Given the description of an element on the screen output the (x, y) to click on. 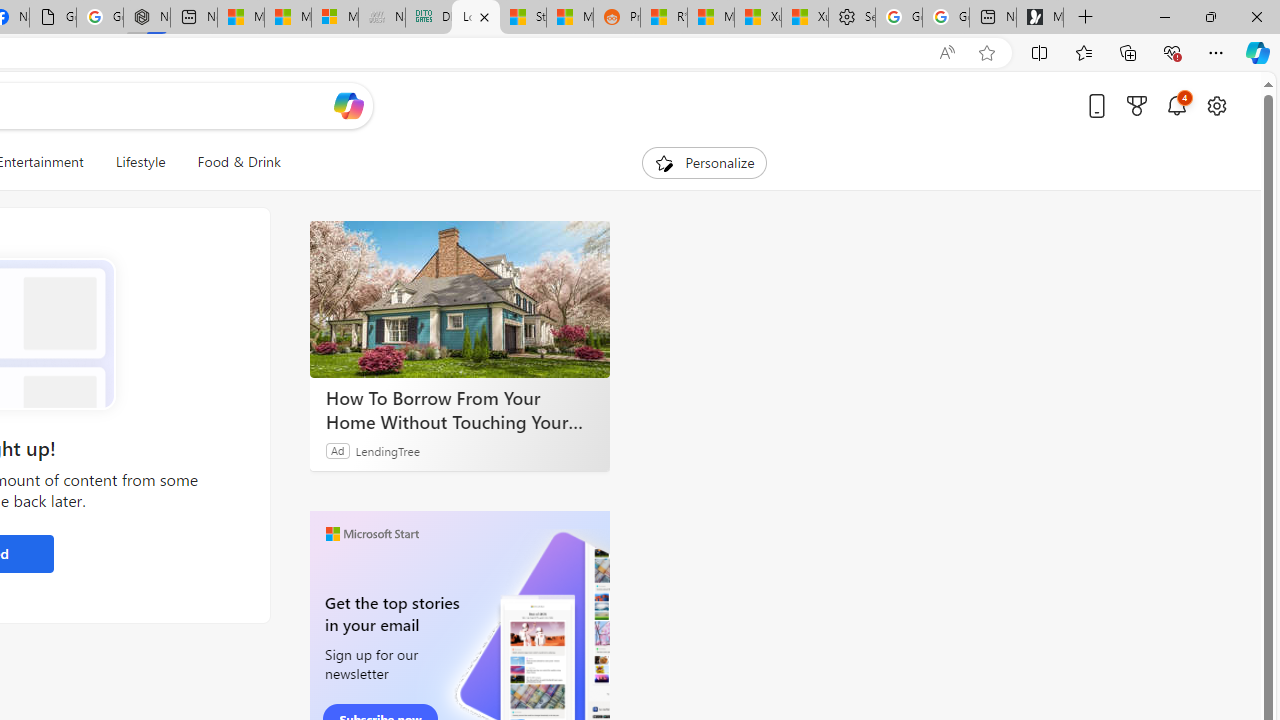
Google Analytics Opt-out Browser Add-on Download Page (52, 17)
